Given the description of an element on the screen output the (x, y) to click on. 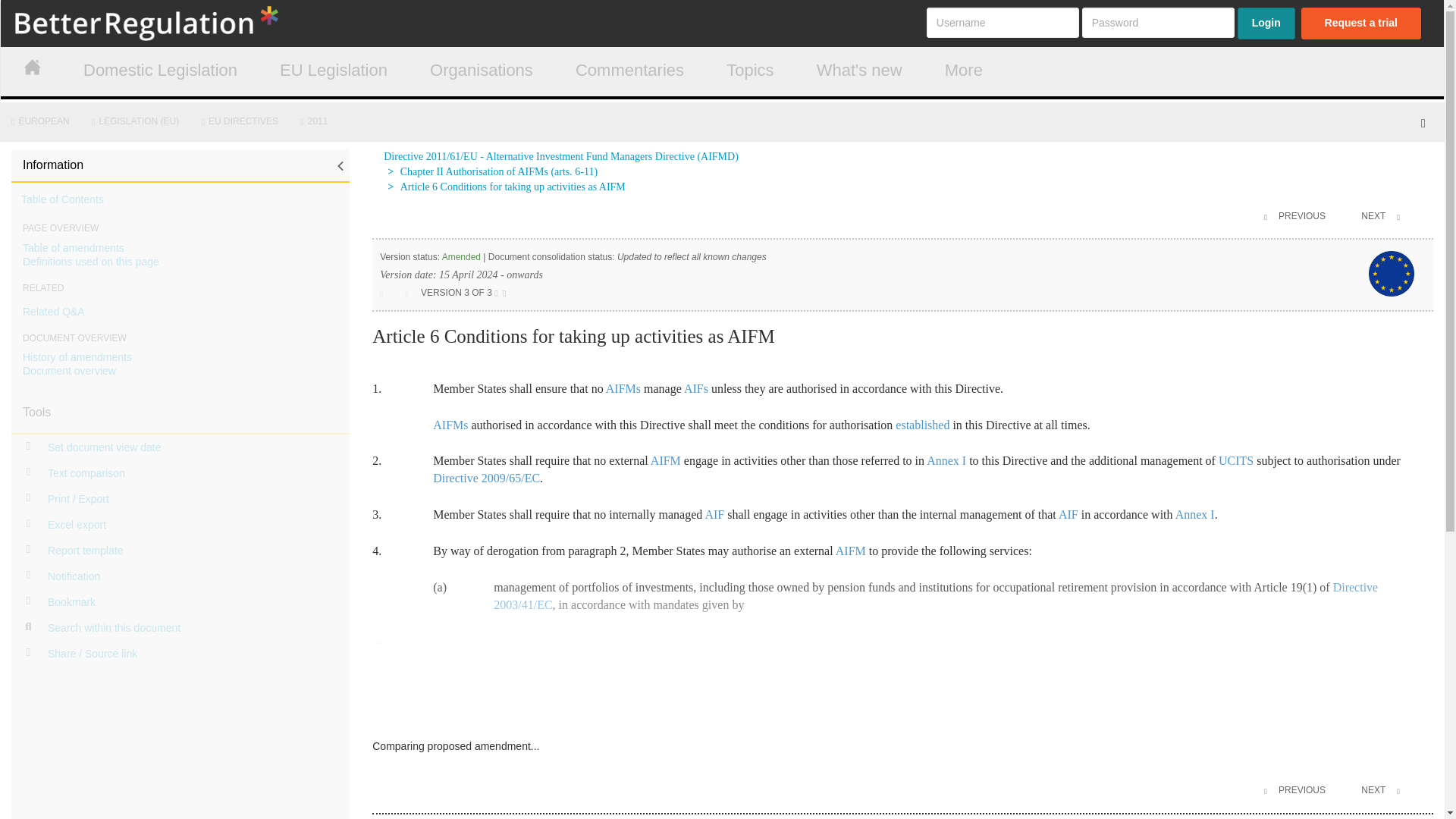
Request a trial (1361, 23)
Organisations (480, 71)
Login (1266, 23)
What's new (859, 71)
Home (179, 22)
More (963, 71)
Information (180, 165)
2011 (318, 121)
EUROPEAN (42, 121)
Table of amendments (73, 247)
Commentaries (629, 71)
Domestic Legislation (160, 71)
Definitions used on this page (90, 261)
EU DIRECTIVES (243, 121)
